Given the description of an element on the screen output the (x, y) to click on. 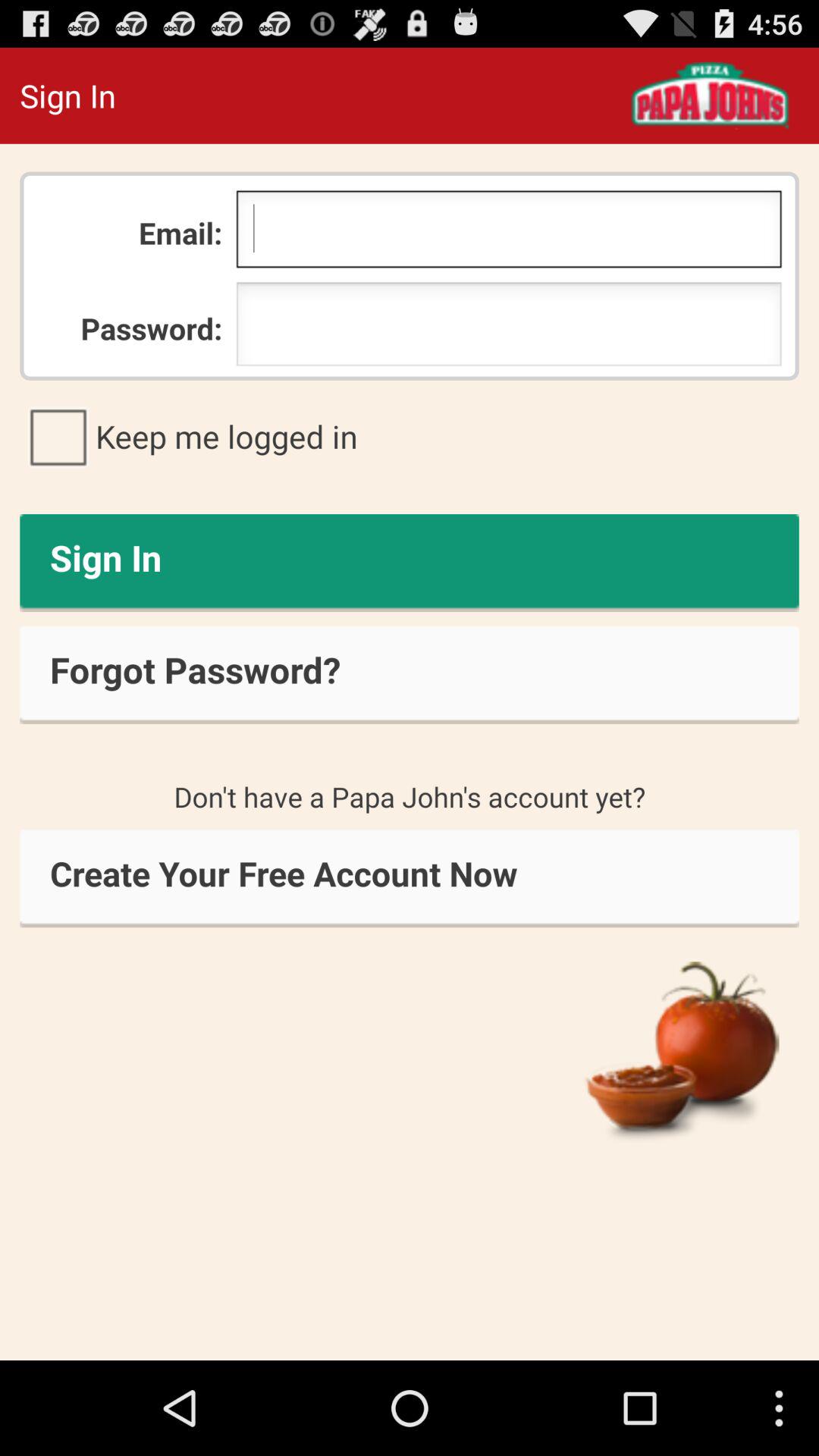
turn off icon below the don t have app (409, 878)
